Given the description of an element on the screen output the (x, y) to click on. 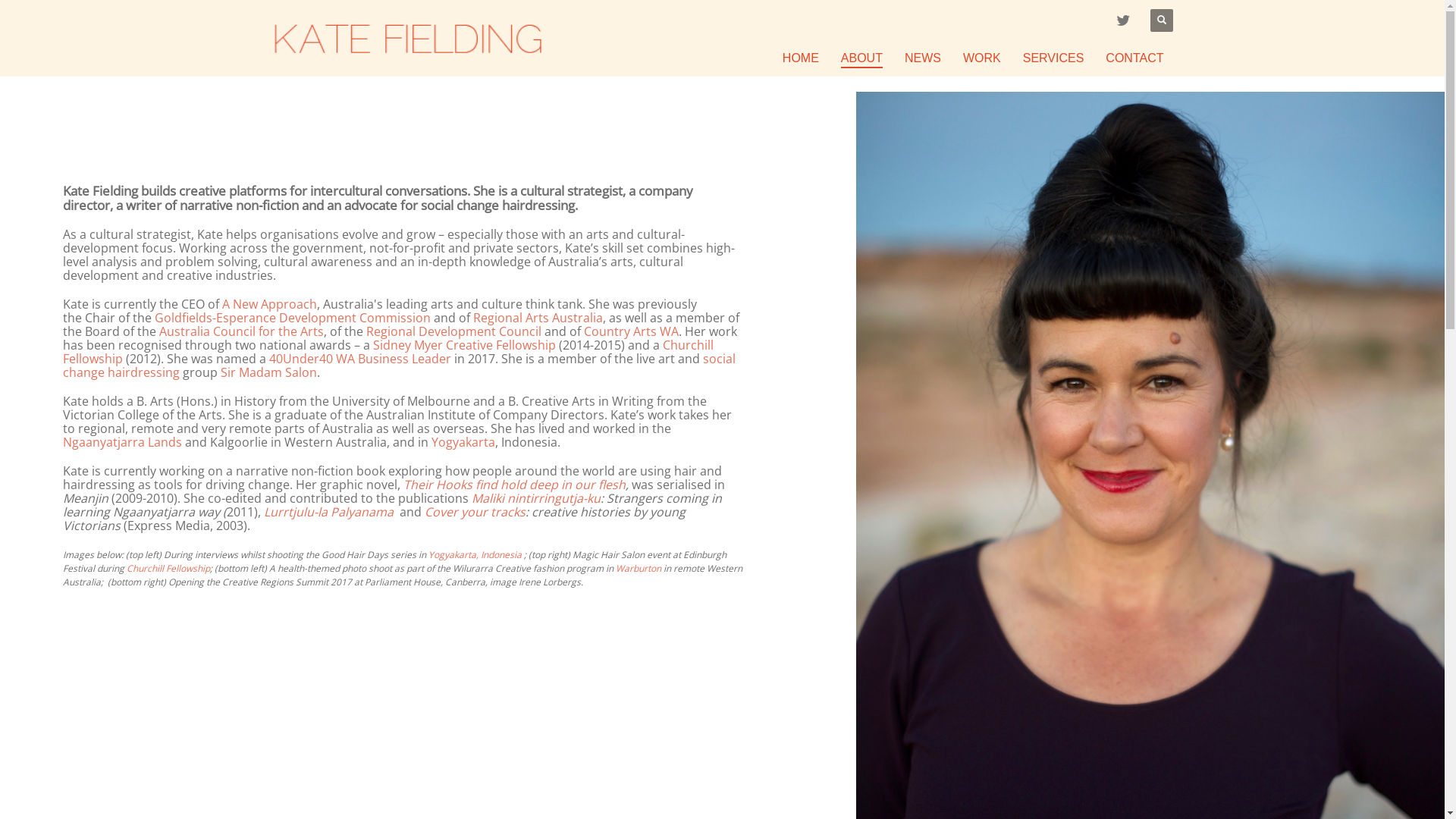
NEWS Element type: text (922, 58)
Collaborative | Intercultural | Creative Element type: hover (406, 37)
Warburton Element type: text (638, 567)
Maliki nintirringutja-ku Element type: text (535, 497)
Churchill Fellowship Element type: text (168, 567)
HOME Element type: text (800, 58)
Their Hooks find hold deep in our flesh Element type: text (514, 484)
Sidney Myer Creative Fellowship Element type: text (464, 344)
Cover your tracks Element type: text (474, 511)
WORK Element type: text (981, 58)
40Under40 WA Business Leader Element type: text (358, 358)
Ngaanyatjarra Lands Element type: text (122, 441)
ABOUT Element type: text (861, 58)
Regional Arts Australia Element type: text (537, 317)
Yogyakarta, Indonesia Element type: text (474, 554)
Churchill Fellowship Element type: text (387, 351)
Regional Development Council Element type: text (453, 331)
CONTACT Element type: text (1134, 58)
Lurrtjulu-la Palyanama Element type: text (326, 511)
Twitter Element type: hover (1123, 20)
Sir Madam Salon Element type: text (268, 372)
Goldfields-Esperance Development Commission Element type: text (292, 317)
SERVICES Element type: text (1053, 58)
Australia Council for the Arts Element type: text (241, 331)
Yogyakarta Element type: text (463, 441)
social change hairdressing Element type: text (398, 365)
A New Approach Element type: text (269, 303)
Country Arts WA Element type: text (630, 331)
